Given the description of an element on the screen output the (x, y) to click on. 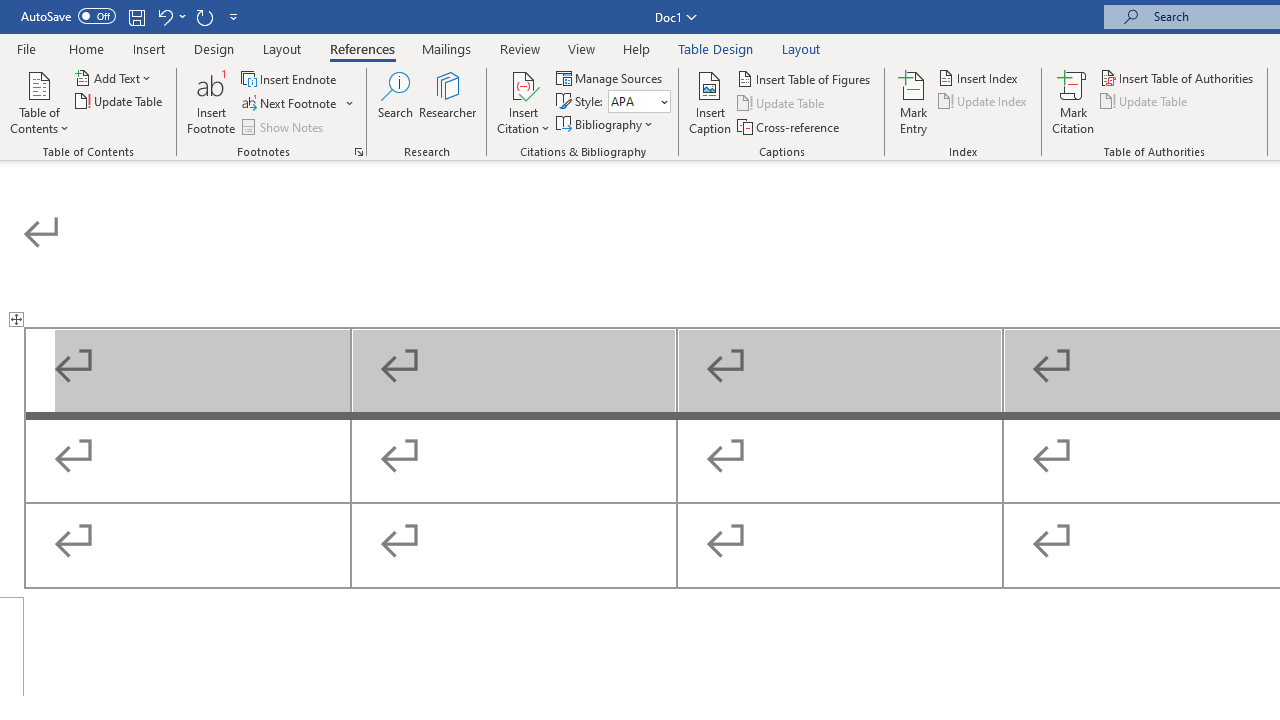
Undo Outline Move Up (170, 15)
Manage Sources... (610, 78)
Update Table (1145, 101)
